Given the description of an element on the screen output the (x, y) to click on. 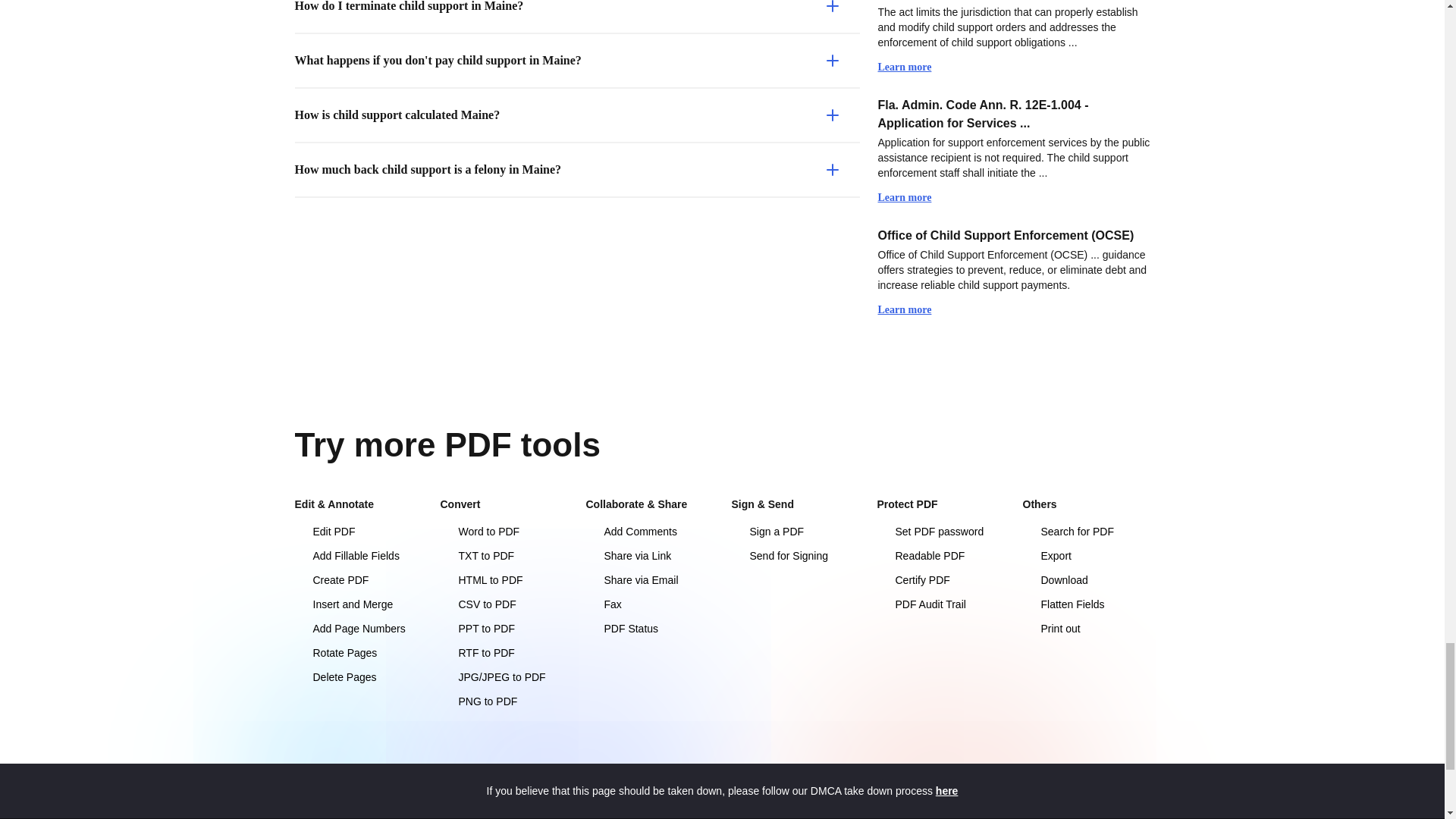
Learn more (910, 309)
Add Page Numbers (358, 628)
Insert and Merge (358, 604)
Add Fillable Fields (358, 555)
Learn more (910, 67)
Rotate Pages (358, 652)
Edit PDF (358, 531)
Create PDF (358, 580)
Learn more (910, 197)
